Given the description of an element on the screen output the (x, y) to click on. 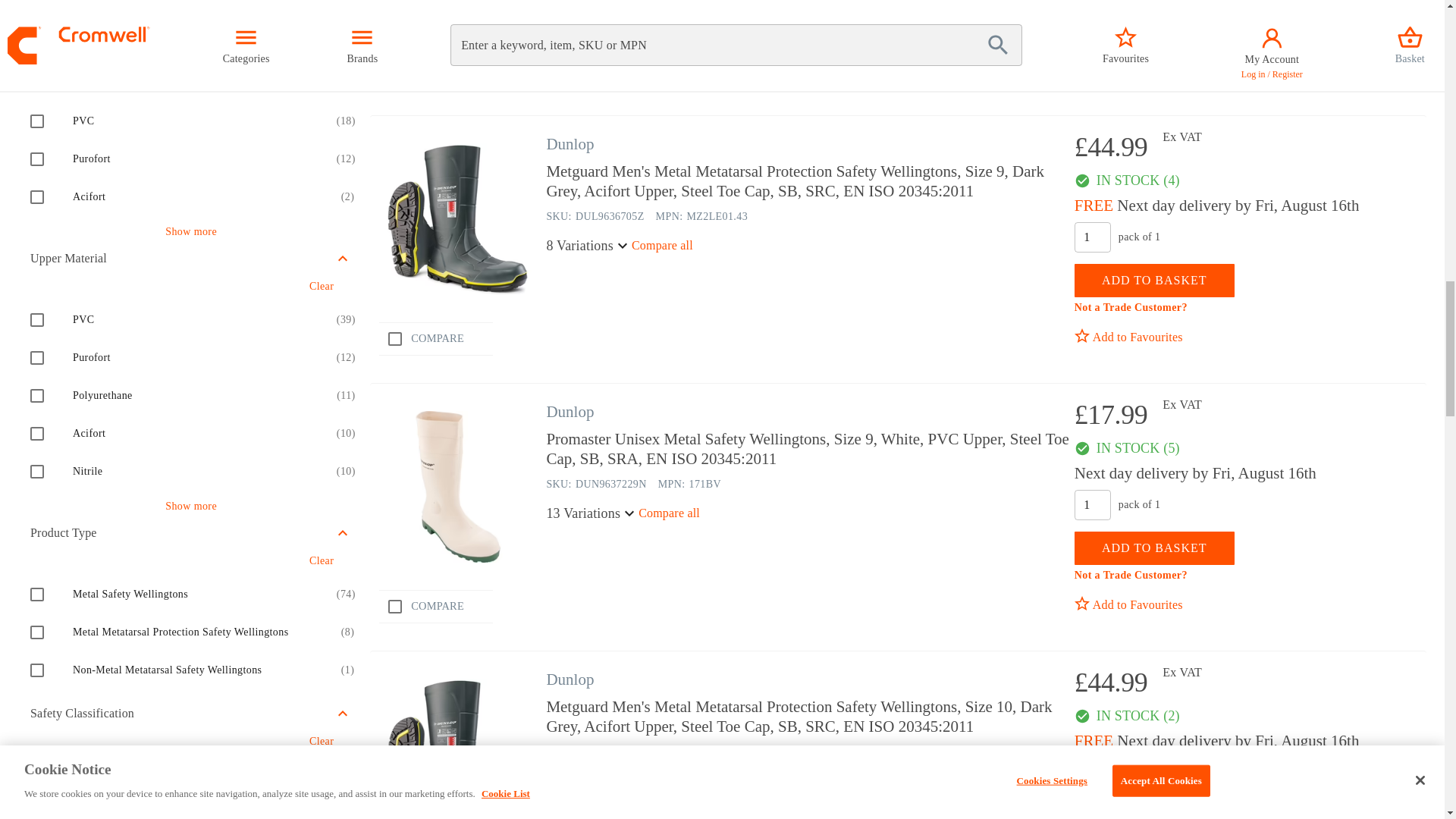
1 (1092, 236)
Show more (190, 231)
Clear (320, 286)
1 (1092, 772)
Clear (320, 11)
1 (1092, 504)
